Given the description of an element on the screen output the (x, y) to click on. 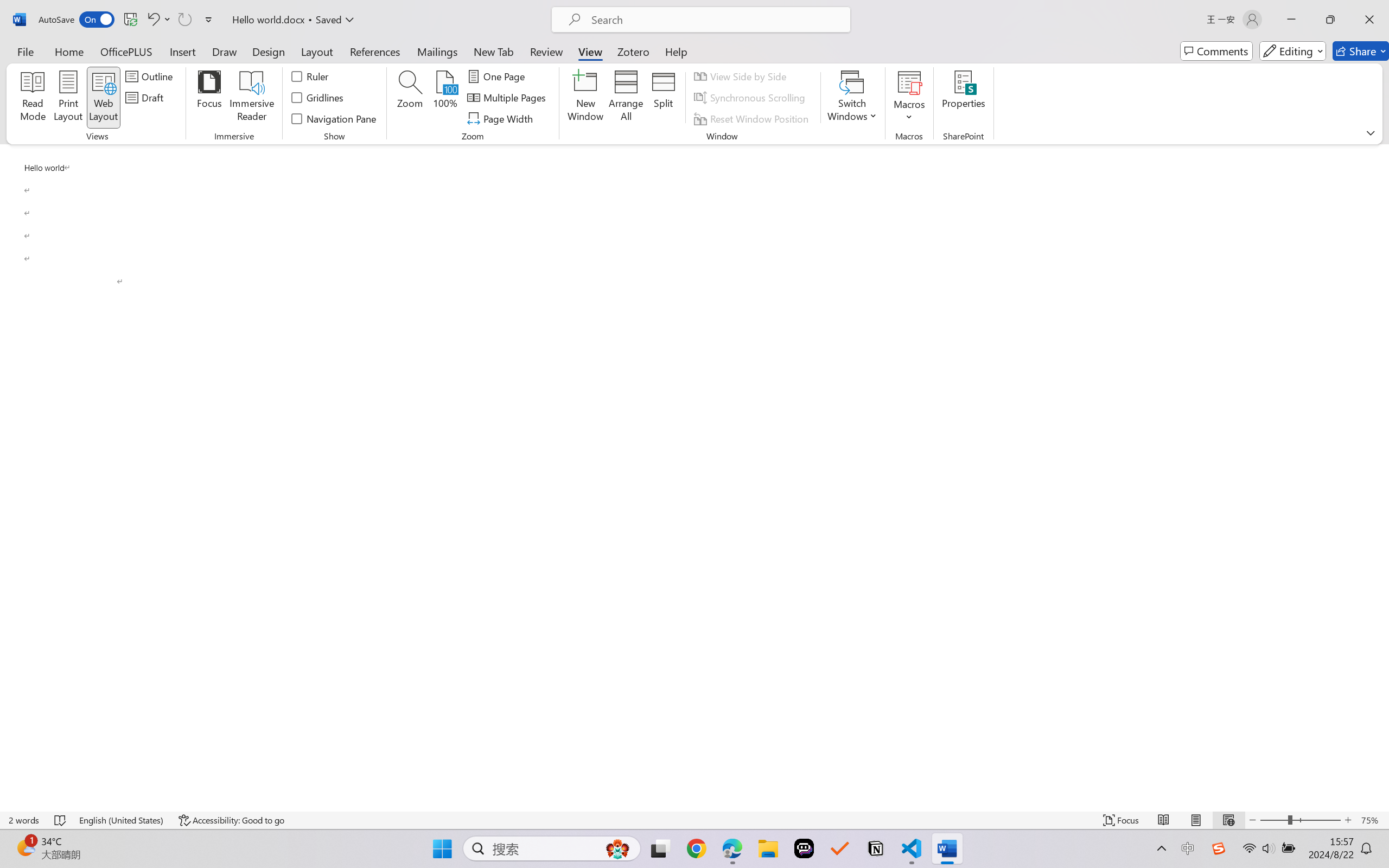
Focus  (1121, 819)
